Given the description of an element on the screen output the (x, y) to click on. 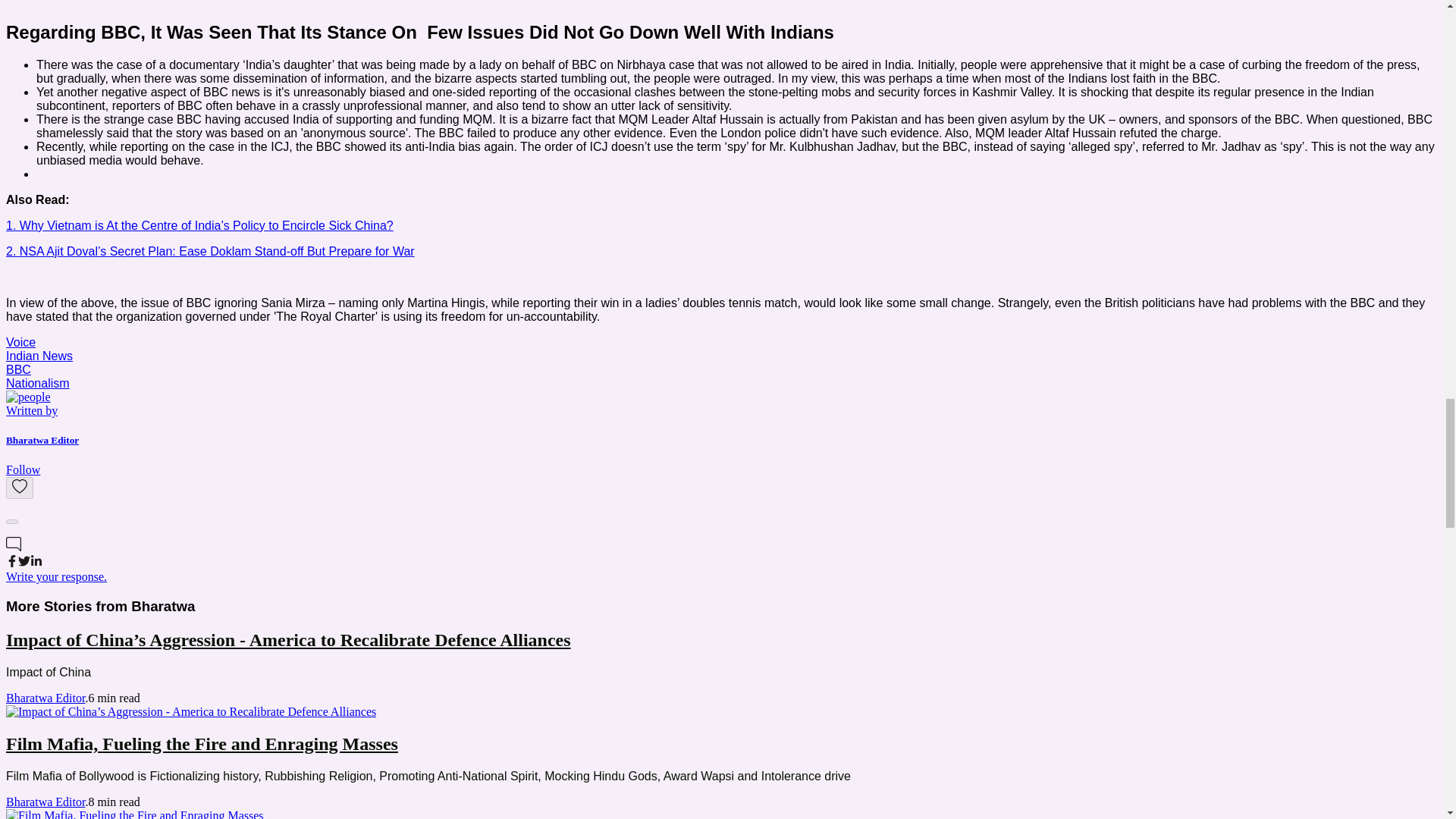
Nationalism (37, 382)
Indian News (38, 355)
Follow (22, 469)
Film Mafia, Fueling the Fire and Enraging Masses (134, 814)
BBC (17, 369)
Bharatwa Editor (44, 801)
Voice (19, 341)
Write your response. (55, 576)
Bharatwa Editor (44, 697)
